Given the description of an element on the screen output the (x, y) to click on. 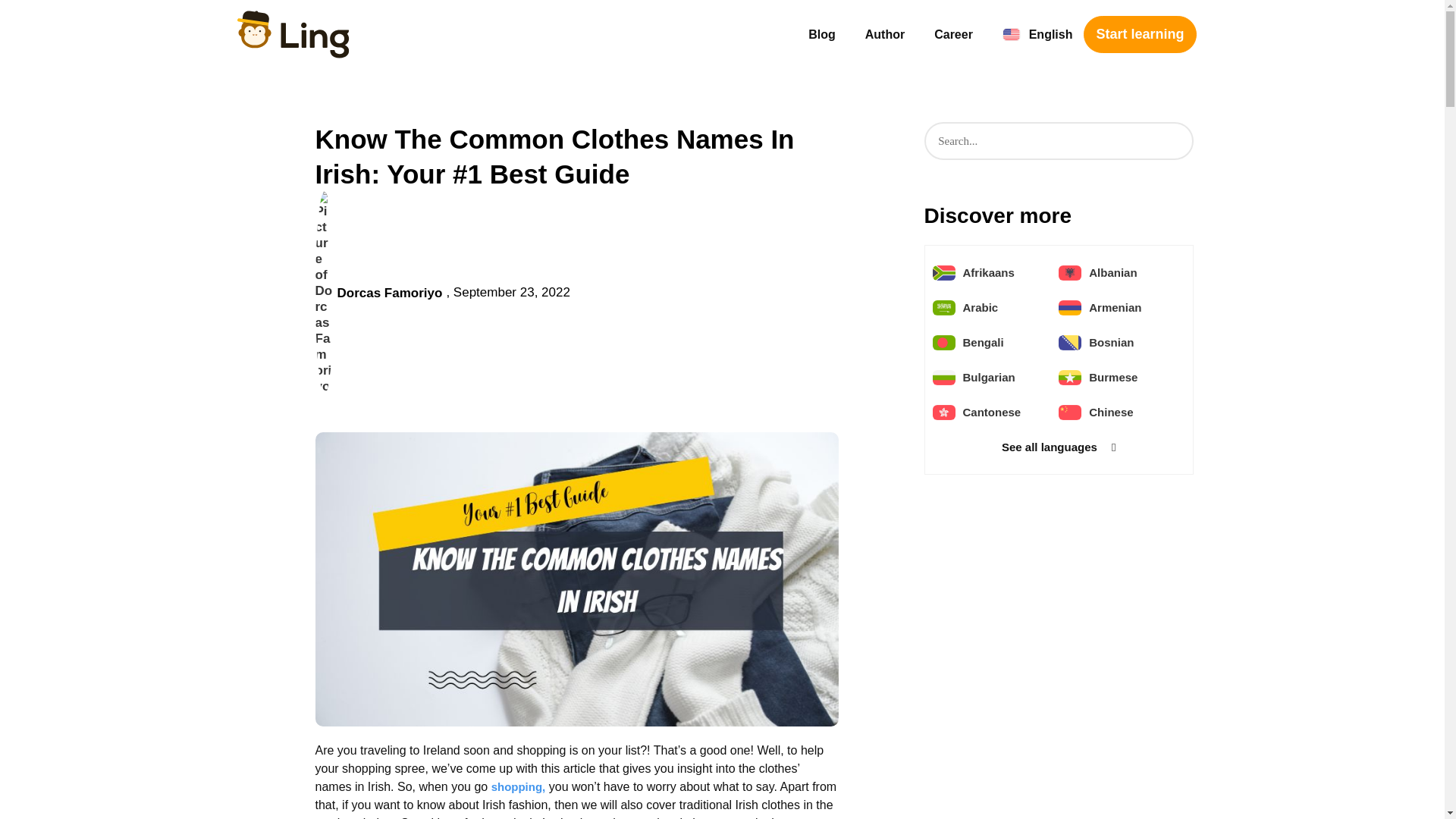
Afrikaans (988, 272)
Bulgarian (988, 376)
Chinese (1110, 412)
Start learning (1139, 34)
Arabic (980, 307)
shopping, (519, 786)
Armenian (1115, 307)
Albanian (1113, 272)
Burmese (1113, 376)
English (1037, 34)
